Given the description of an element on the screen output the (x, y) to click on. 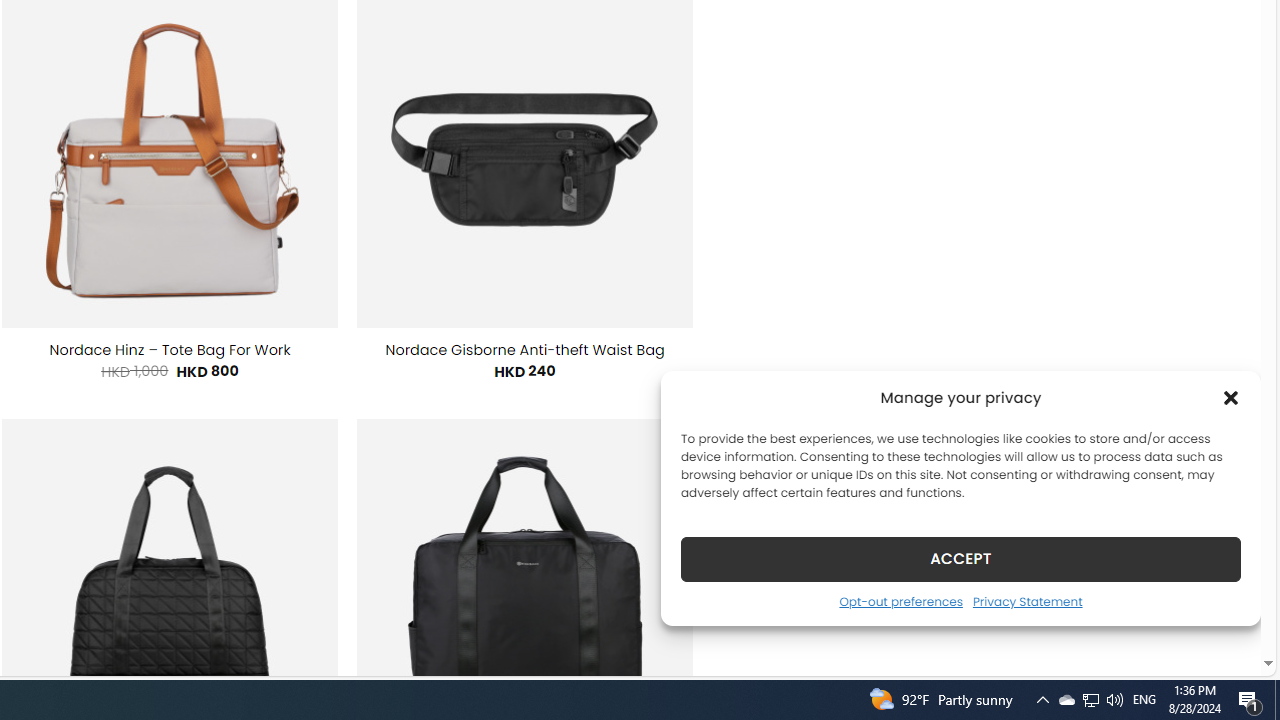
Nordace Gisborne Anti-theft Waist Bag (525, 350)
Opt-out preferences (900, 601)
Privacy Statement (1026, 601)
ACCEPT (960, 558)
Class: cmplz-close (1231, 397)
